Given the description of an element on the screen output the (x, y) to click on. 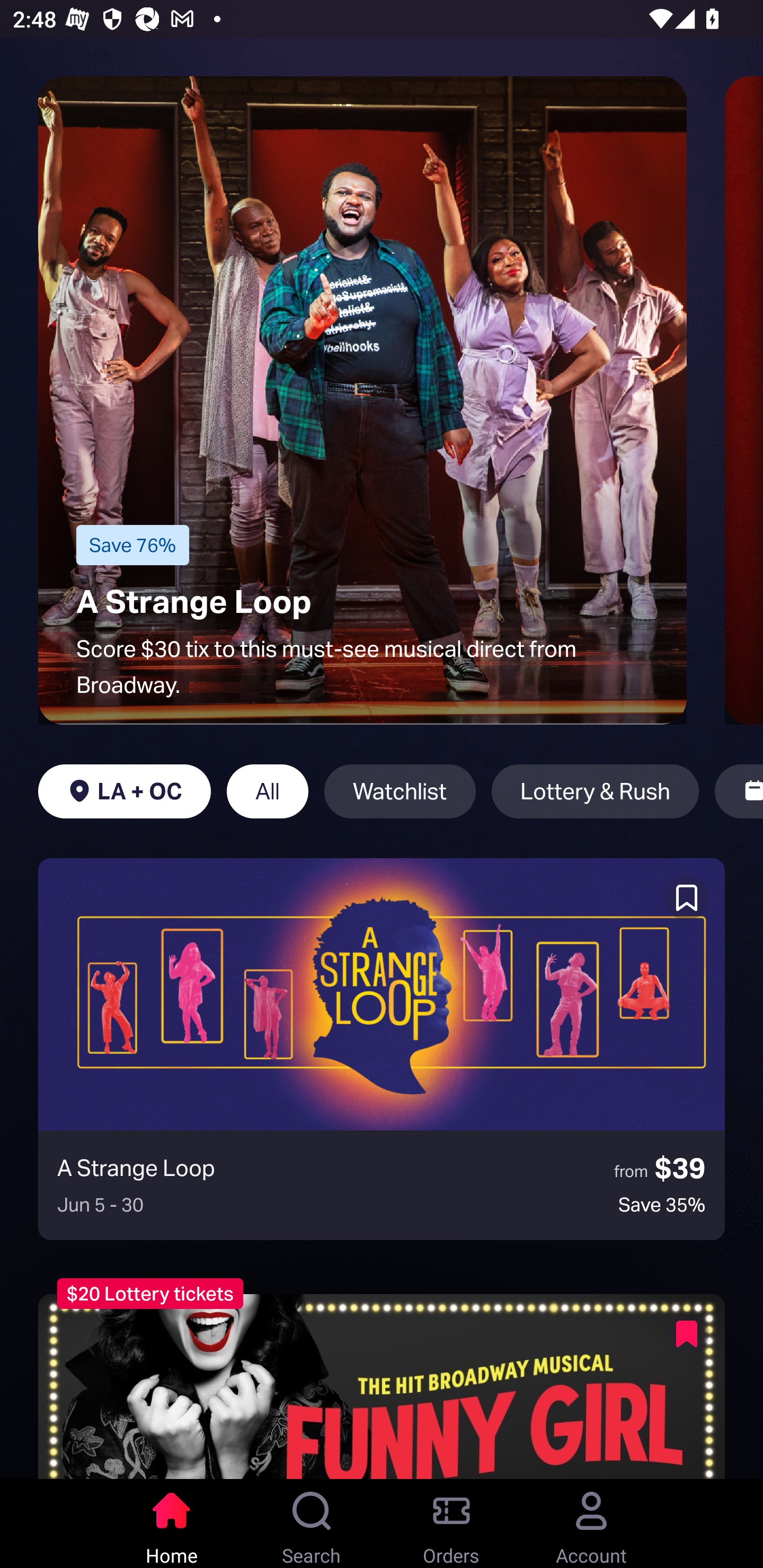
LA + OC (124, 791)
All (267, 791)
Watchlist (400, 791)
Lottery & Rush (594, 791)
A Strange Loop from $39 Jun 5 - 30 Save 35% (381, 1048)
Search (311, 1523)
Orders (451, 1523)
Account (591, 1523)
